Given the description of an element on the screen output the (x, y) to click on. 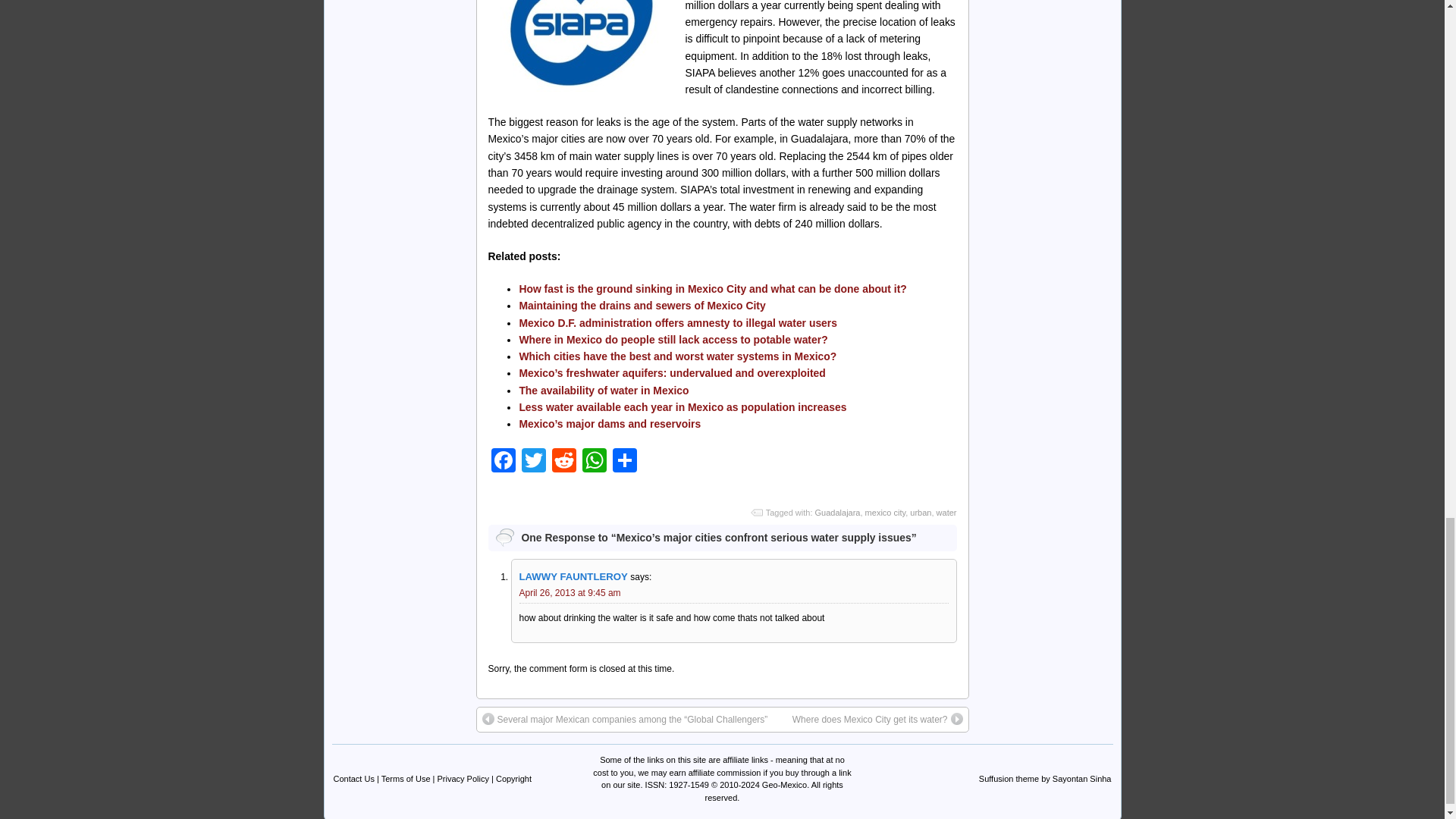
WhatsApp (594, 461)
Twitter (533, 461)
Twitter (533, 461)
Facebook (502, 461)
water (946, 511)
  Where does Mexico City get its water? (877, 719)
urban (920, 511)
mexico city (884, 511)
Maintaining the drains and sewers of Mexico City (641, 305)
